Given the description of an element on the screen output the (x, y) to click on. 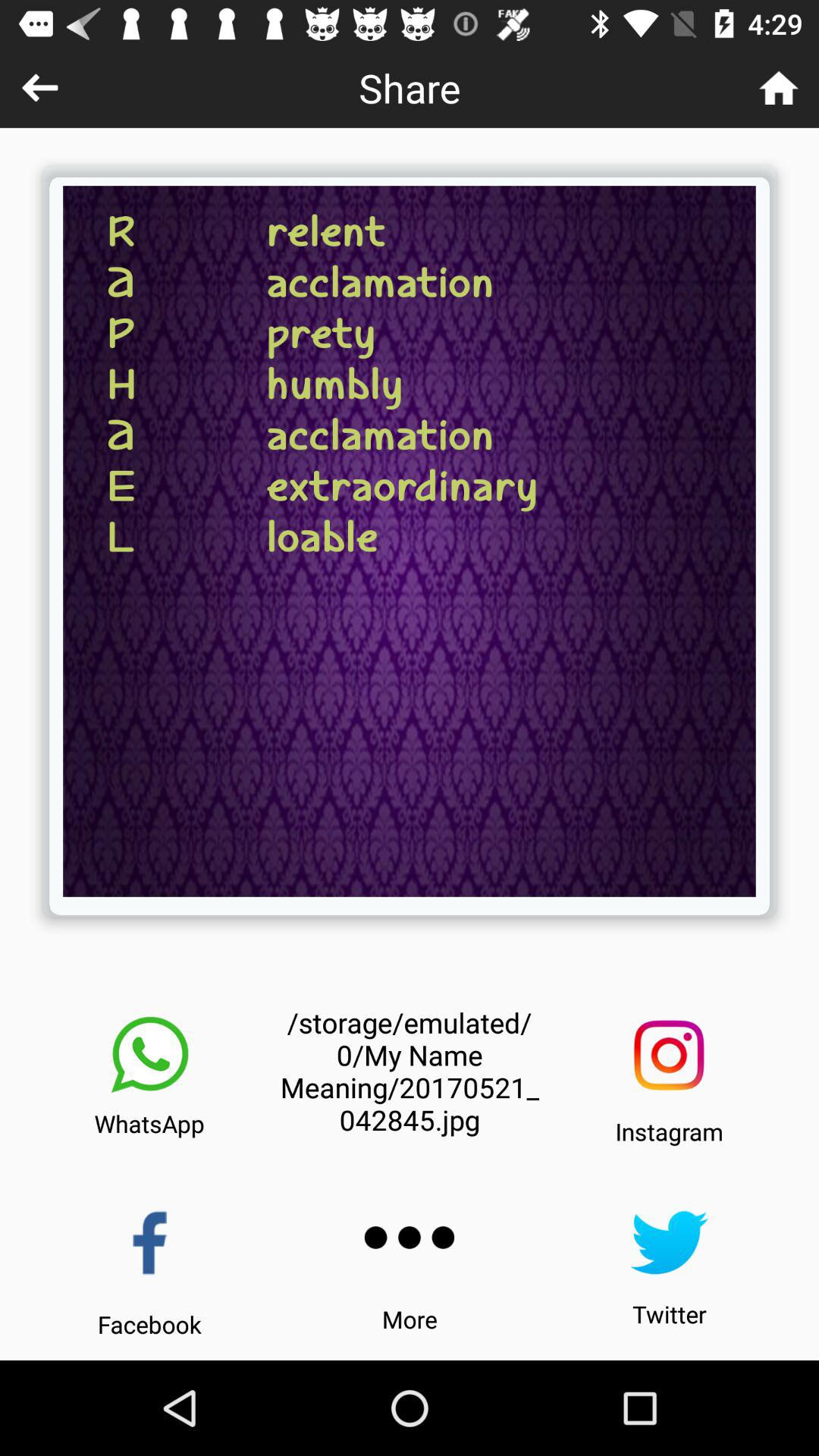
click icon below whatsapp (149, 1242)
